Given the description of an element on the screen output the (x, y) to click on. 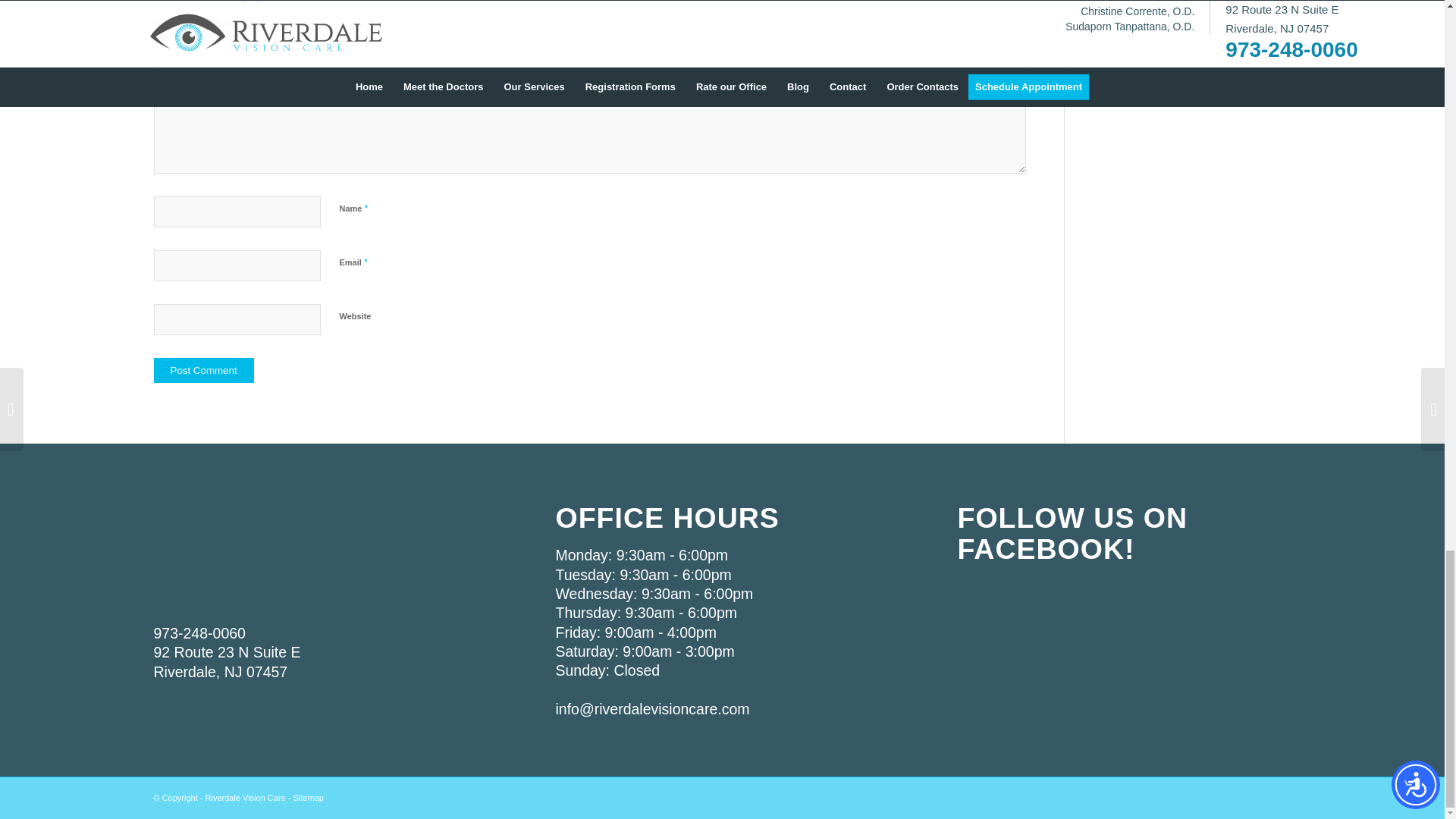
Post Comment (202, 370)
